Given the description of an element on the screen output the (x, y) to click on. 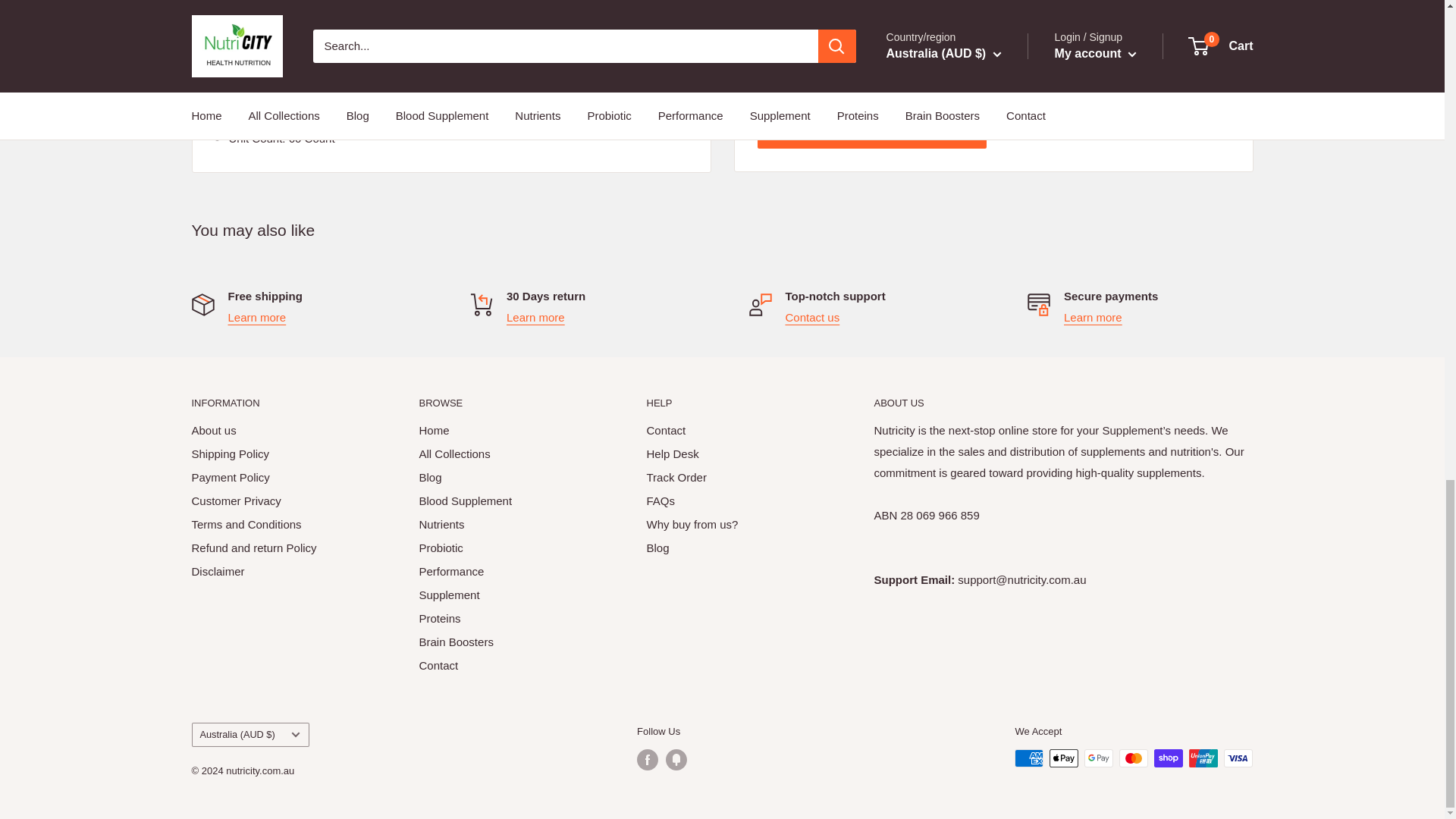
Refund Policy (535, 317)
Shipping Policy (256, 317)
Contact (813, 317)
Payment (1093, 317)
